Given the description of an element on the screen output the (x, y) to click on. 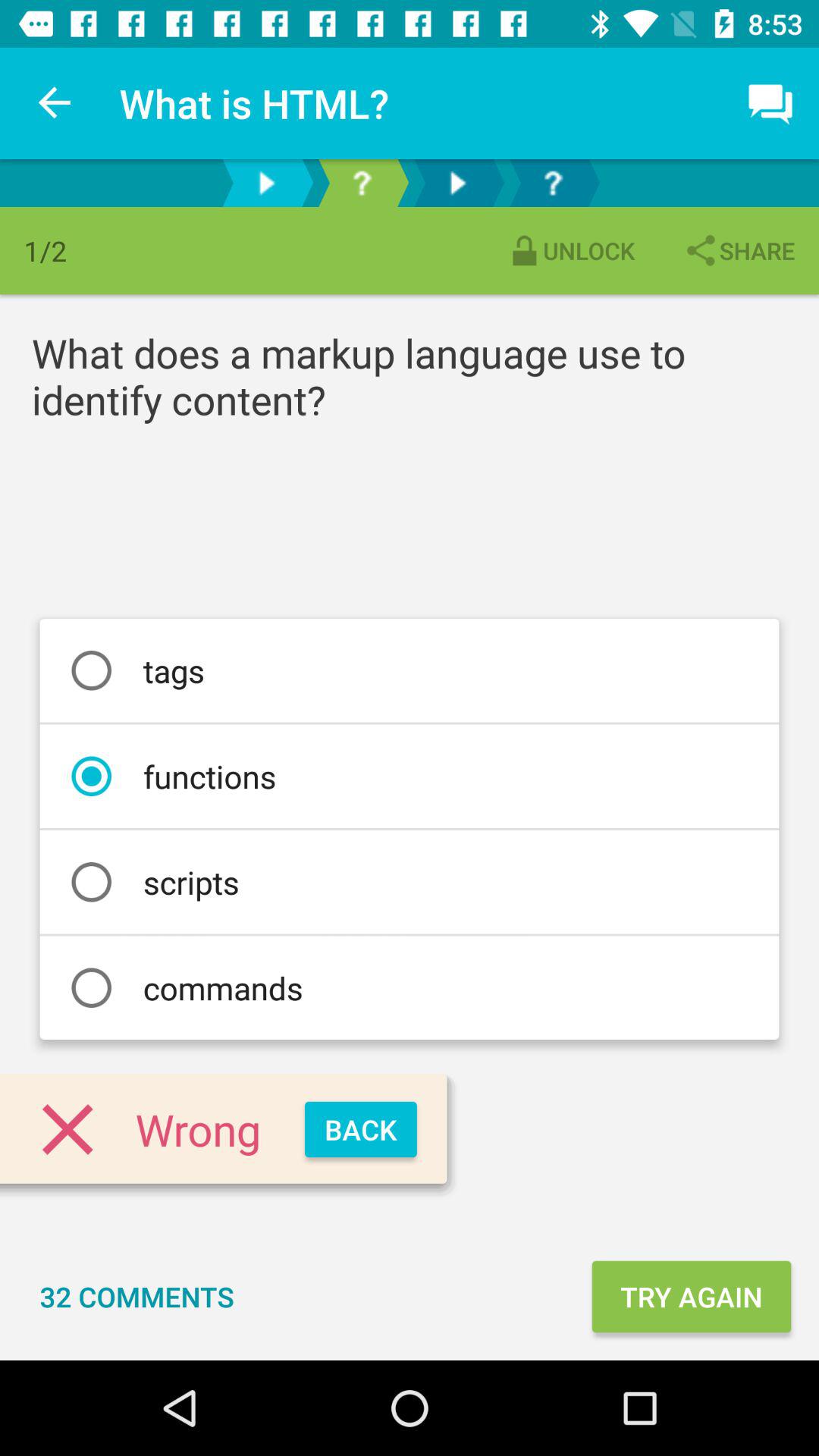
next question (552, 183)
